Given the description of an element on the screen output the (x, y) to click on. 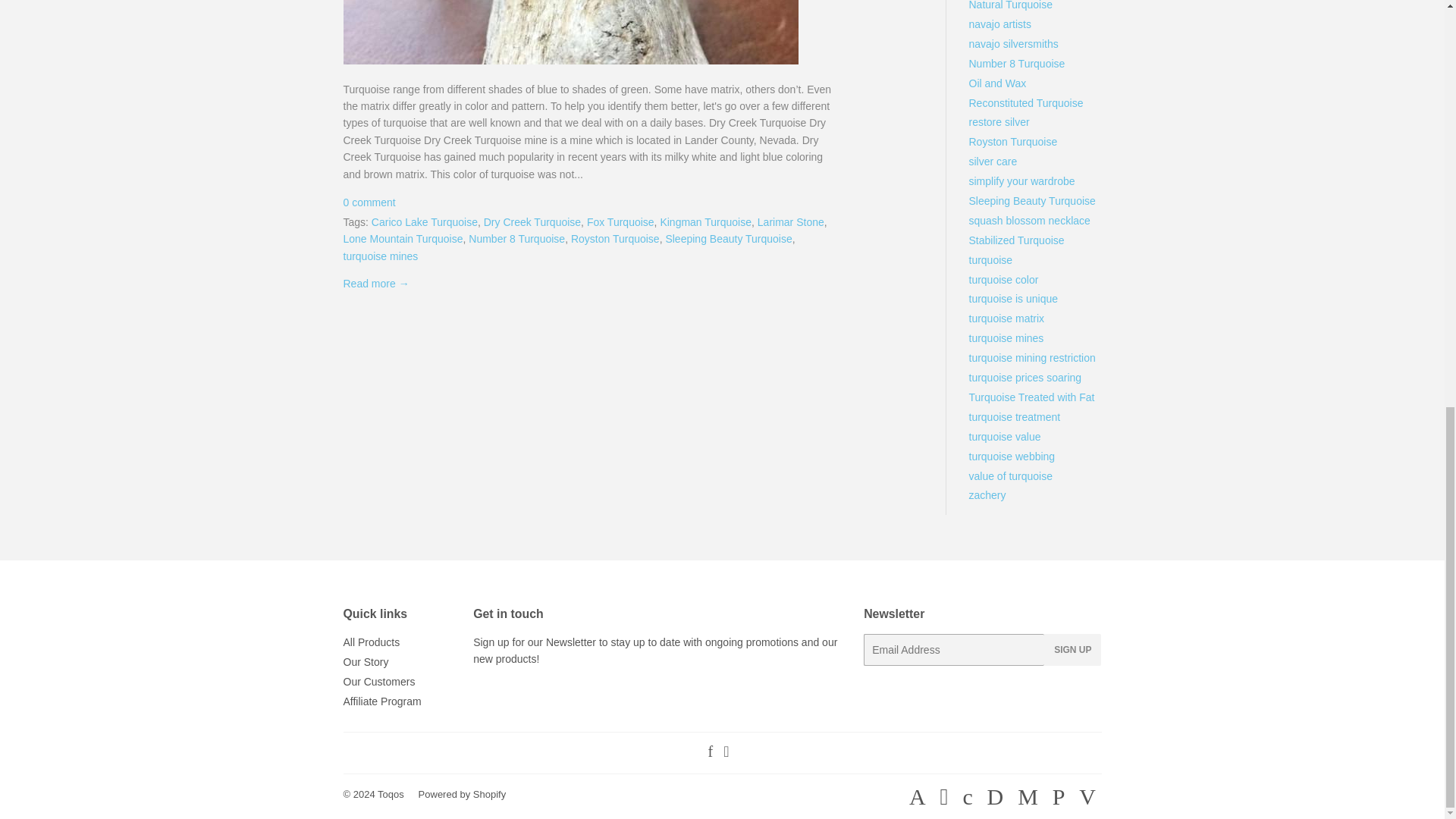
Dry Creek Turquoise (531, 222)
0 comment (368, 202)
Carico Lake Turquoise (424, 222)
